Given the description of an element on the screen output the (x, y) to click on. 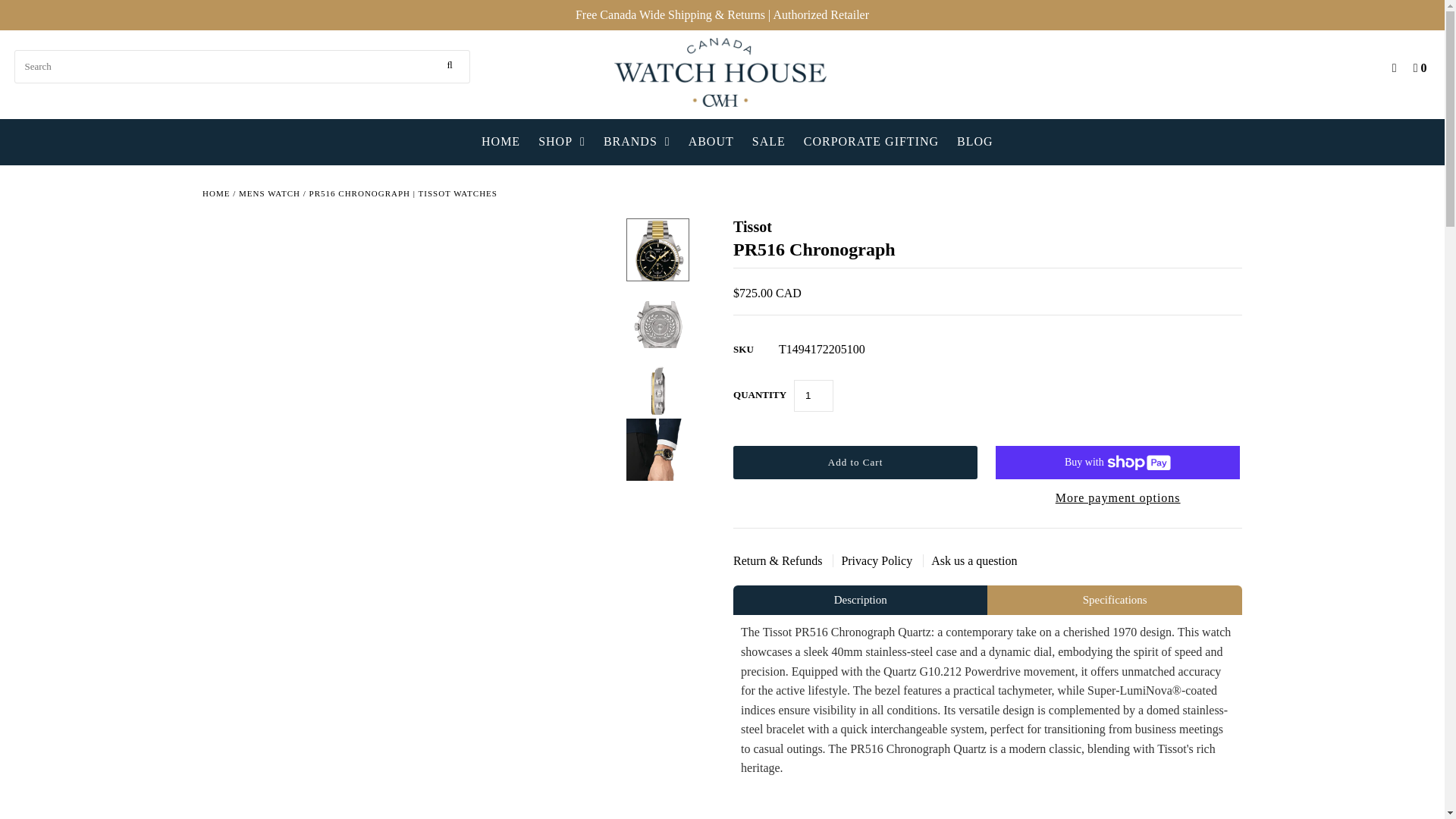
BRANDS (636, 141)
0 (1416, 67)
Home (216, 194)
SHOP (561, 141)
HOME (500, 141)
Add to Cart (854, 462)
1 (812, 395)
Mens Watch (268, 194)
